Given the description of an element on the screen output the (x, y) to click on. 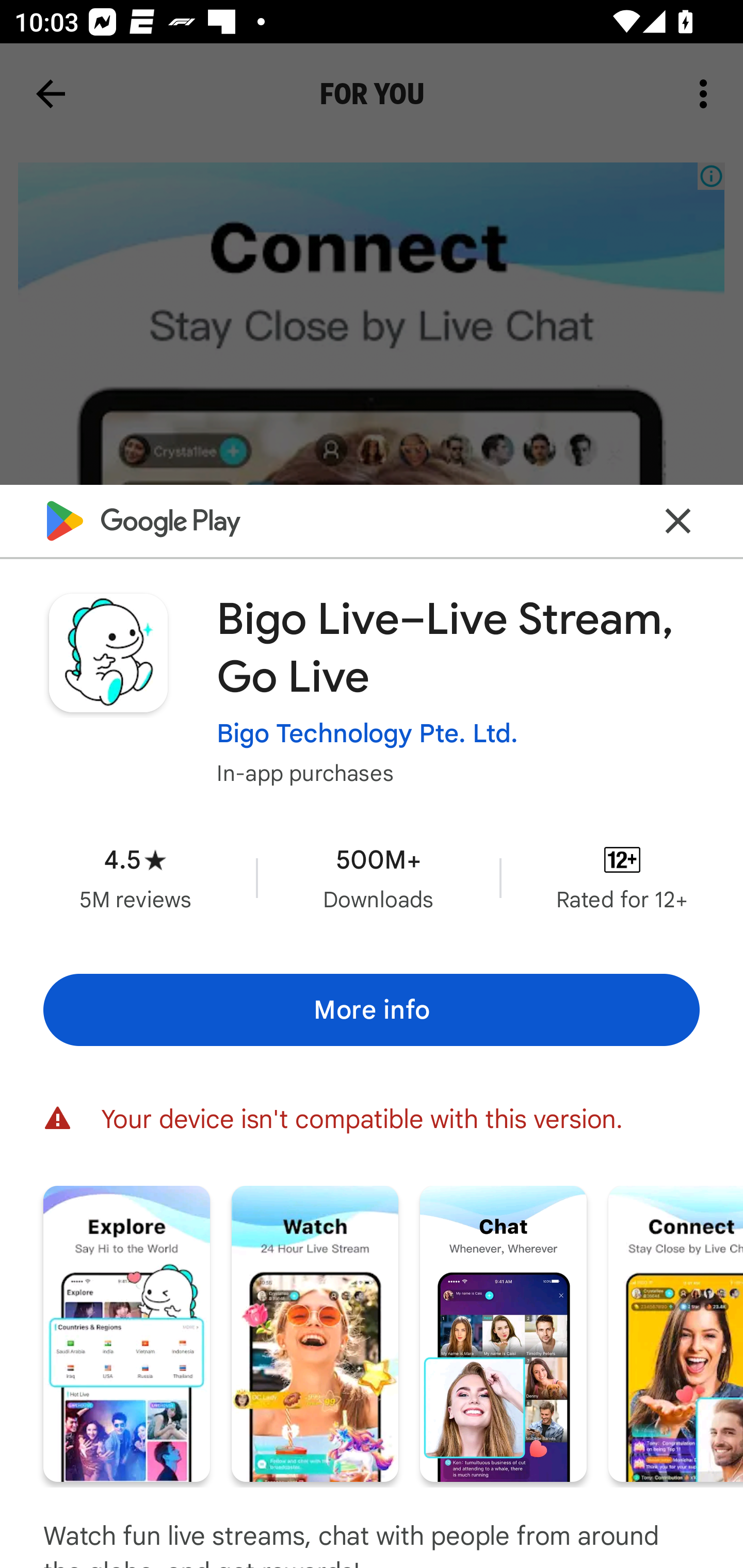
Close (677, 520)
Bigo Technology Pte. Ltd. (367, 732)
More info (371, 1009)
Screenshot "1" of "8" (126, 1333)
Screenshot "2" of "8" (314, 1333)
Screenshot "3" of "8" (502, 1333)
Screenshot "4" of "8" (675, 1333)
